Given the description of an element on the screen output the (x, y) to click on. 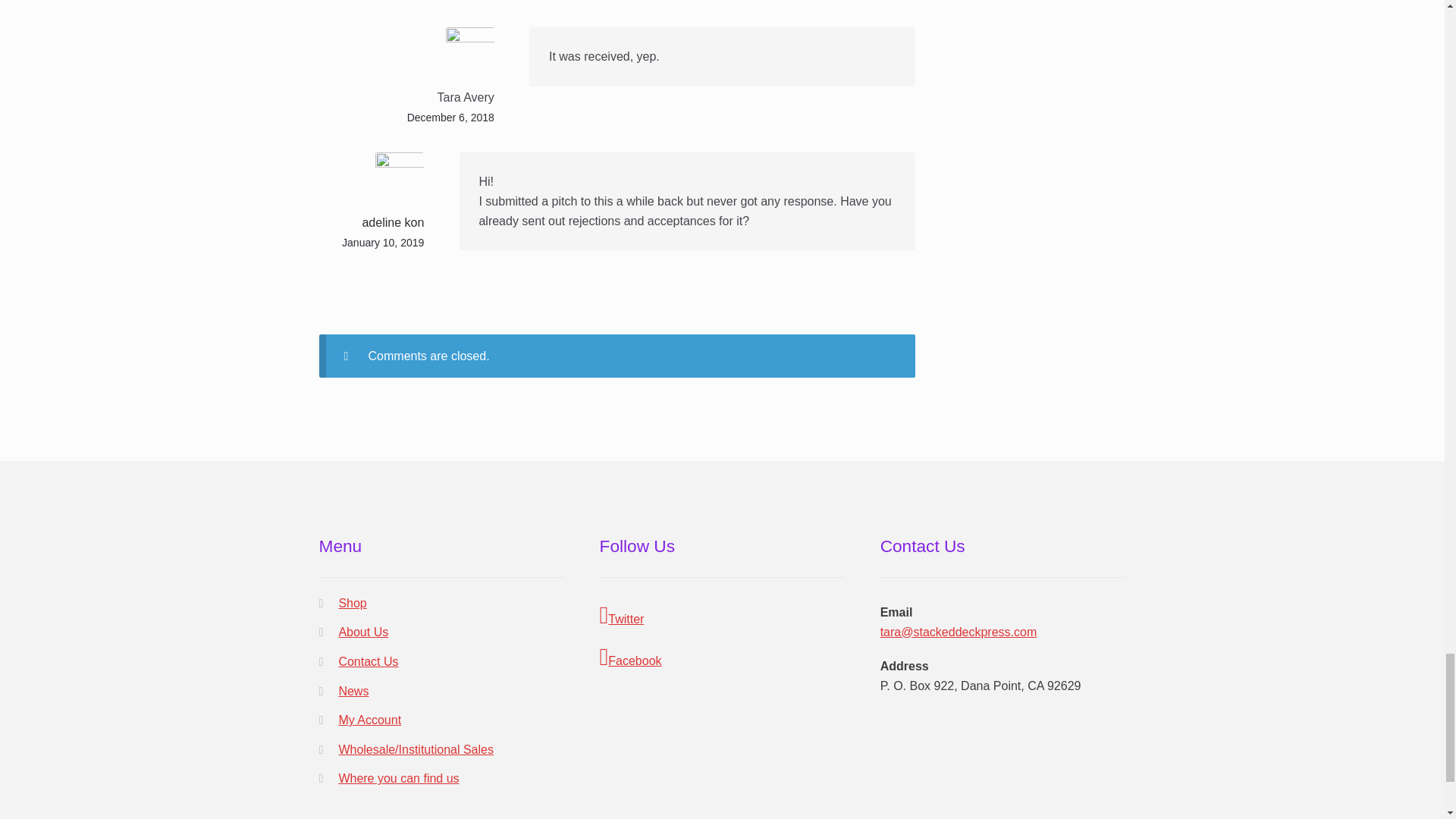
Visit Stacked Deck Press on Facebook (722, 657)
Visit Stacked Deck Press on Twitter (722, 615)
